Given the description of an element on the screen output the (x, y) to click on. 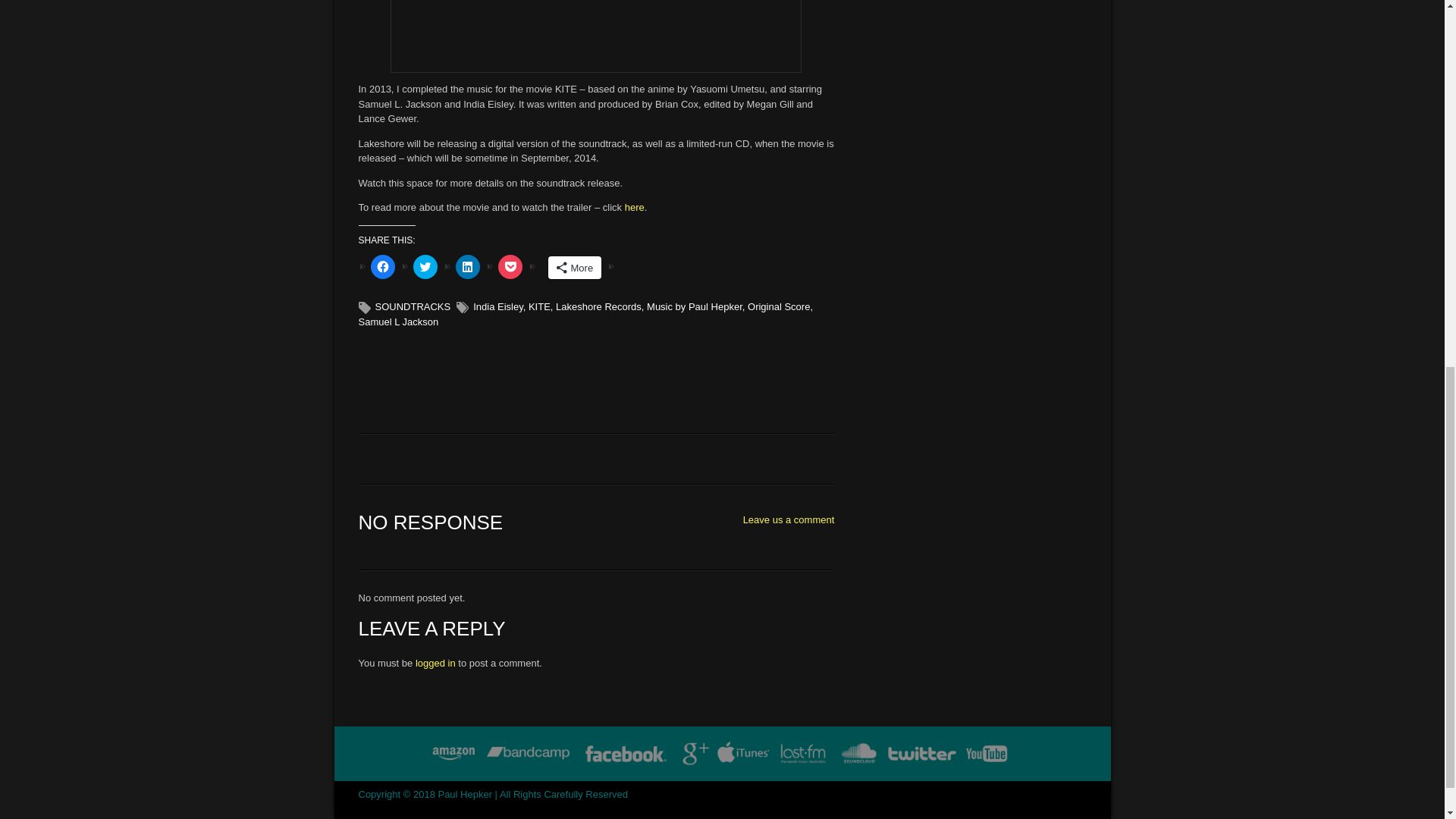
Leave us a comment (788, 519)
KITE - The Movie (634, 206)
Samuel L Jackson (398, 321)
Amazon (453, 753)
Click to share on Facebook (381, 266)
India Eisley (497, 306)
Lakeshore Records (599, 306)
Music by Paul Hepker (694, 306)
here (634, 206)
Bandcamp (527, 753)
KITE (539, 306)
Click to share on Pocket (509, 266)
Original Score (778, 306)
More (574, 267)
Click to share on LinkedIn (466, 266)
